Given the description of an element on the screen output the (x, y) to click on. 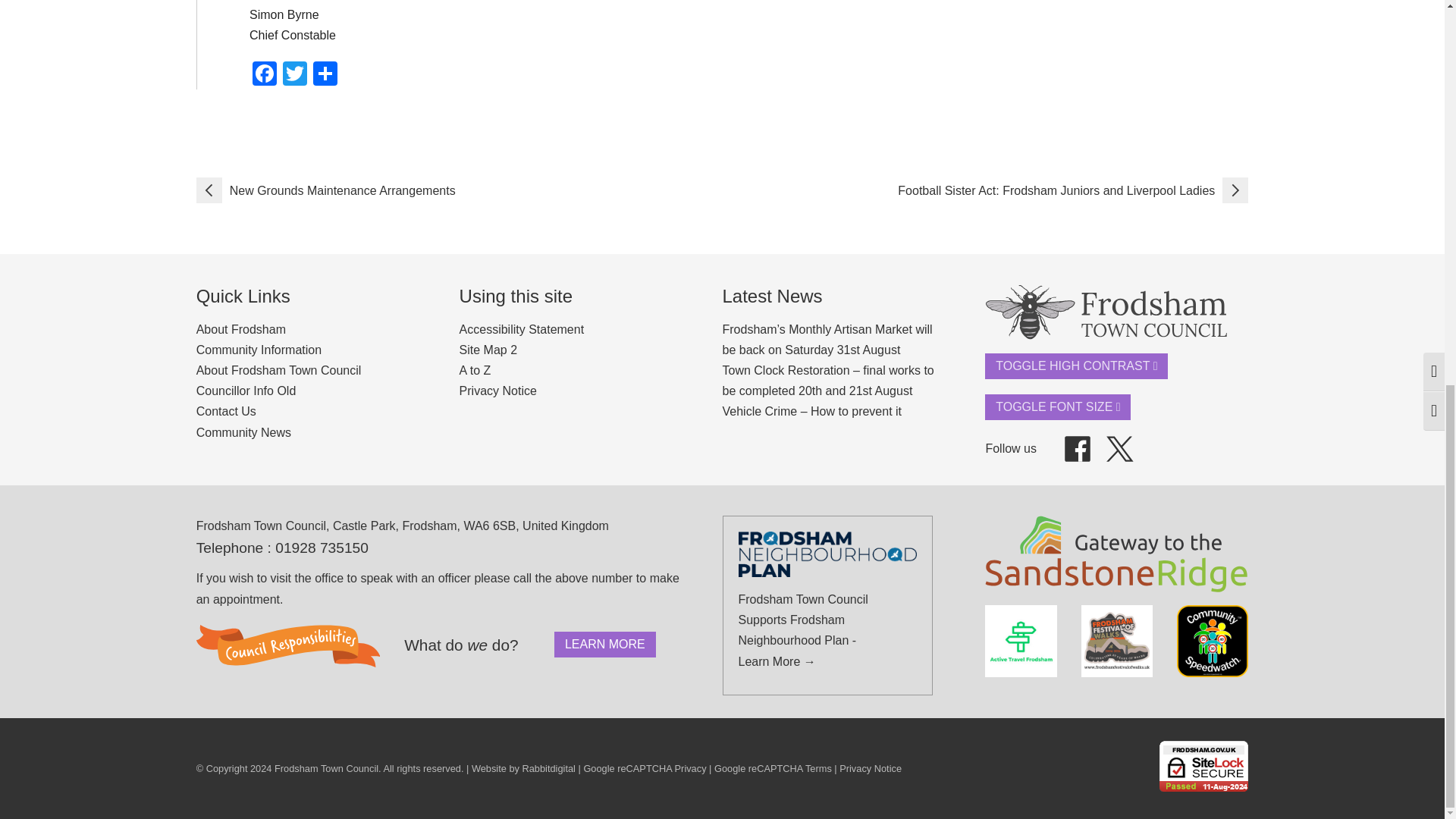
Accessibility Statement (522, 328)
Twitter (294, 75)
About Frodsham (240, 328)
Twitter (294, 75)
About Frodsham Town Council (278, 369)
Facebook (263, 75)
Community Information (258, 349)
Rabbitdigital, Cheshire. (548, 767)
Football Sister Act: Frodsham Juniors and Liverpool Ladies (1072, 190)
Facebook (263, 75)
